Given the description of an element on the screen output the (x, y) to click on. 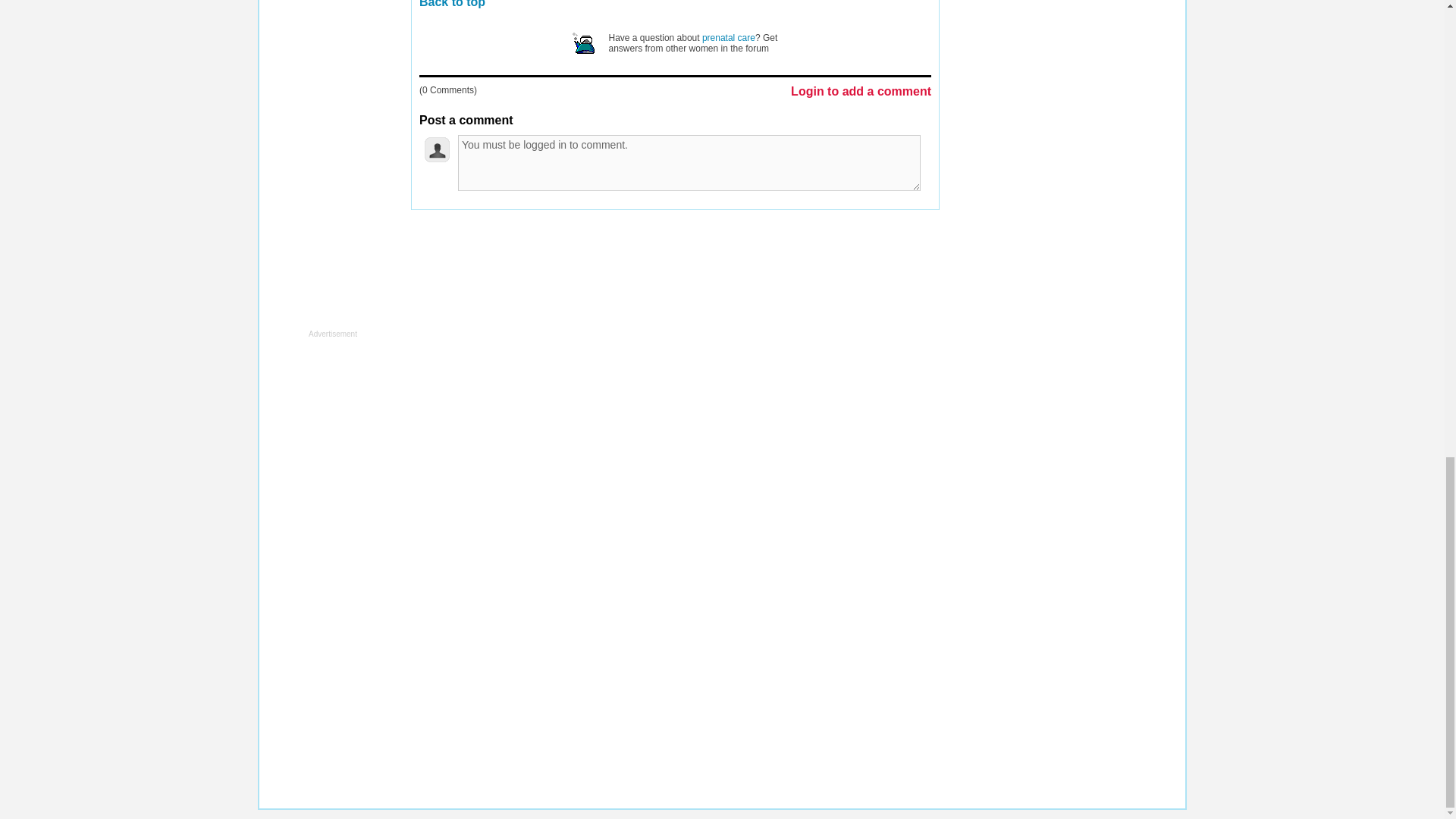
Back to top (451, 4)
Login to add a comment (860, 91)
LOG IN (600, 240)
prenatal care (728, 37)
